Given the description of an element on the screen output the (x, y) to click on. 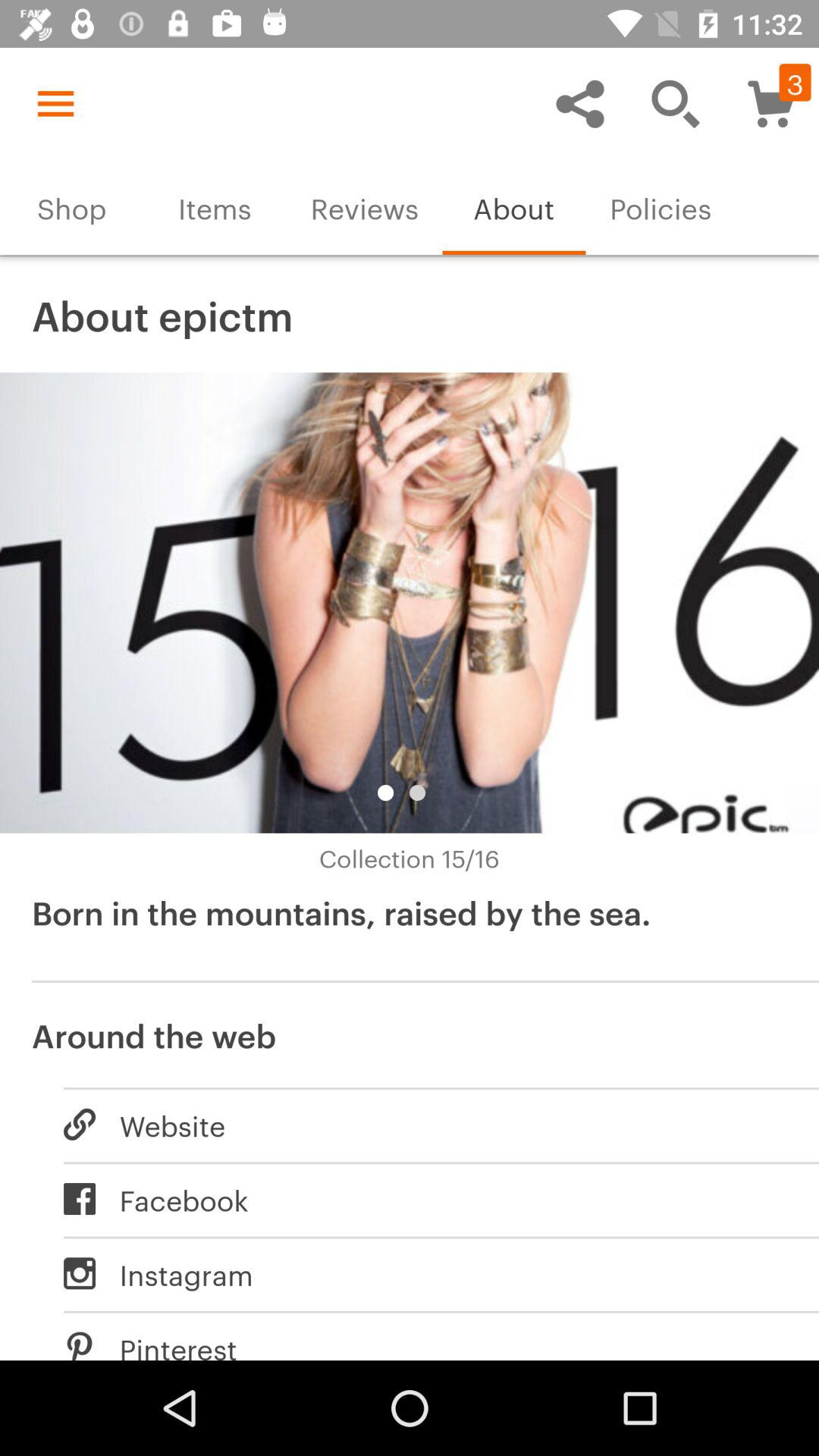
tap icon above policies (675, 103)
